Given the description of an element on the screen output the (x, y) to click on. 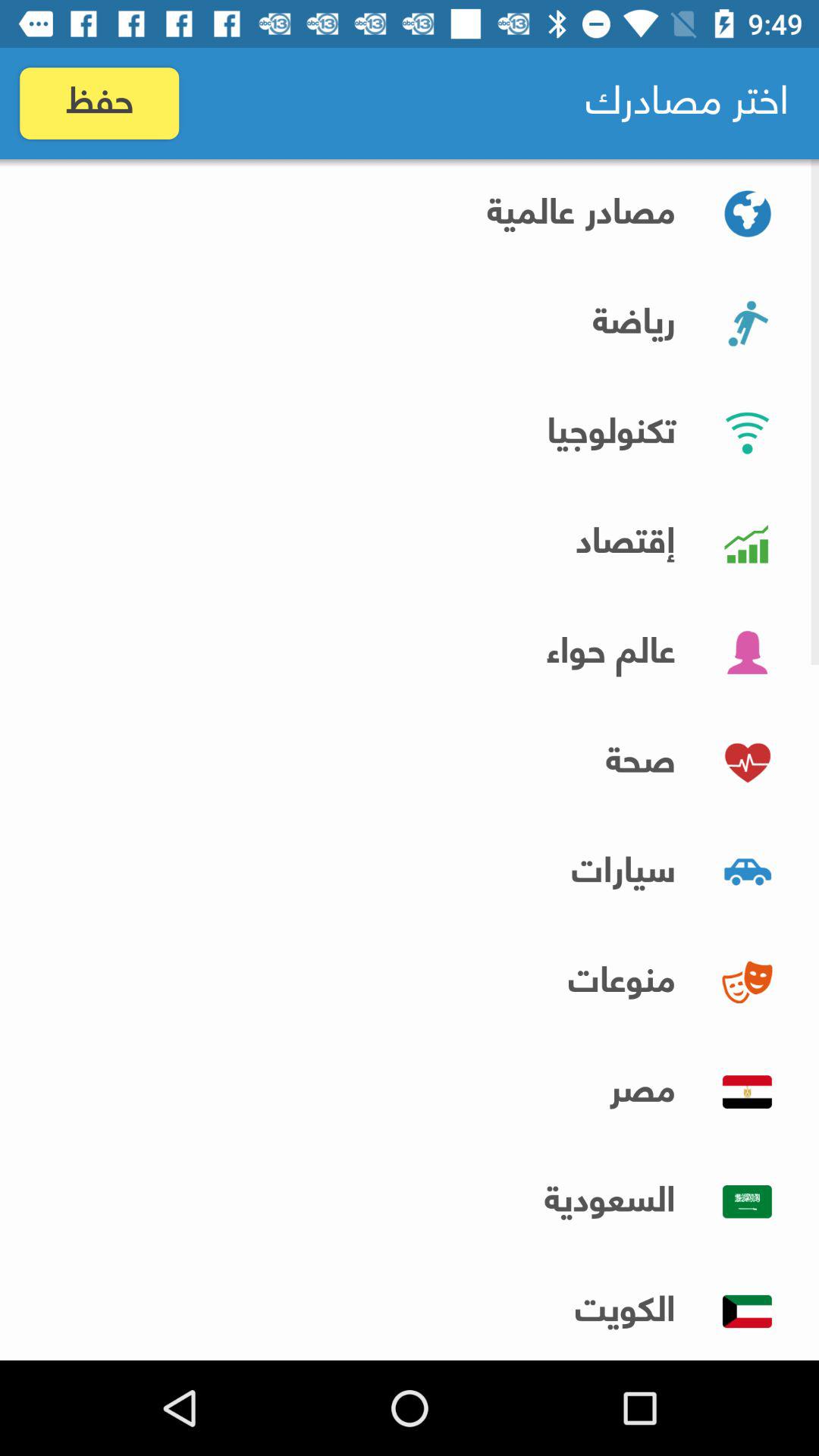
press item at the top left corner (99, 103)
